Given the description of an element on the screen output the (x, y) to click on. 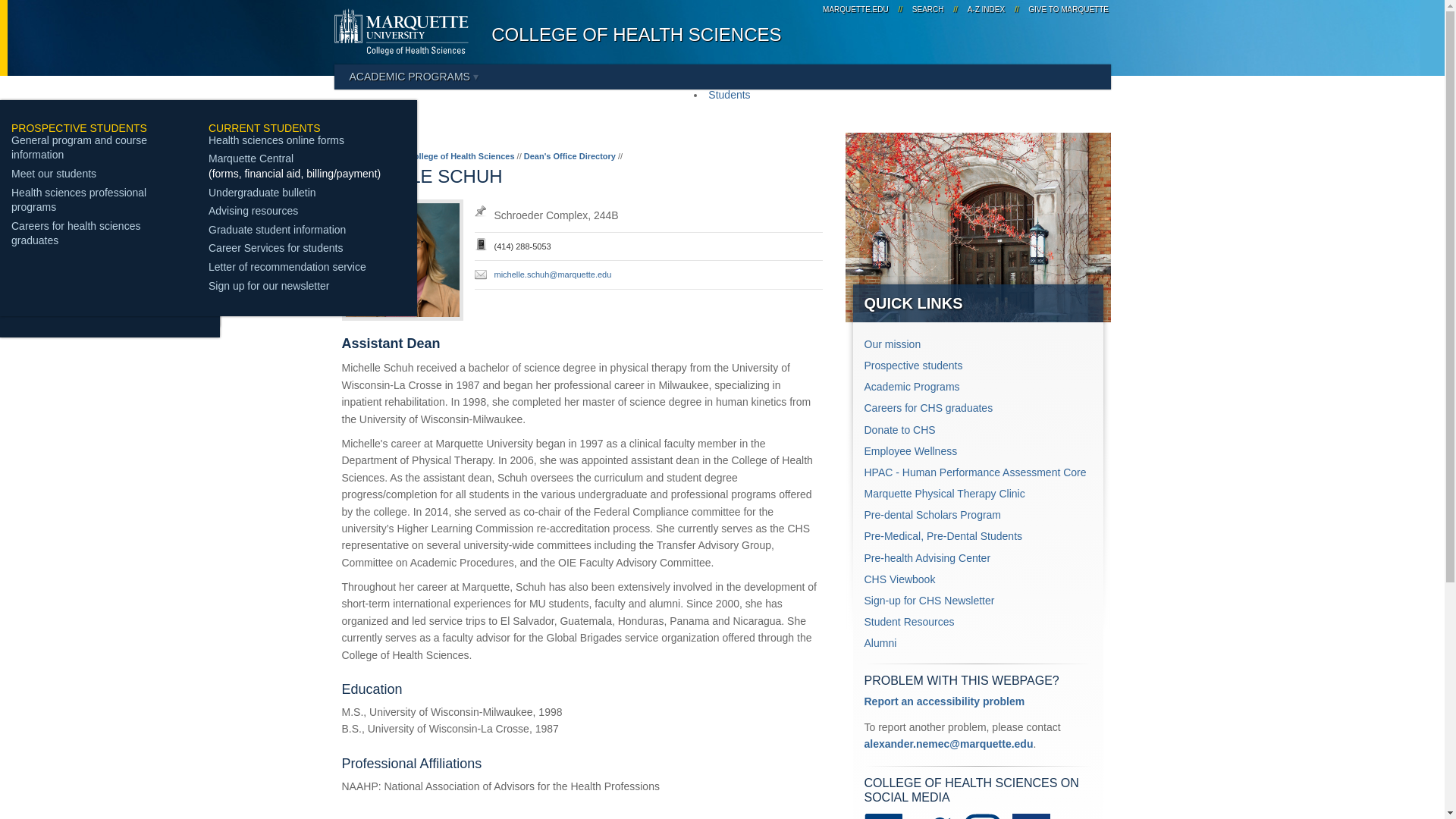
COLLEGE OF HEALTH SCIENCES (636, 34)
Students (728, 94)
Letter of recommendation service (287, 266)
GIVE TO MARQUETTE (1066, 8)
Graduate student information (277, 229)
Health sciences professional programs (79, 199)
ACADEMIC PROGRAMS (413, 76)
General program and course information (79, 147)
Advising resources (253, 210)
Marquette Central (251, 158)
Undergraduate bulletin (261, 192)
Career Services for students (275, 247)
Meet our students (53, 173)
Careers for health sciences graduates (75, 233)
A-Z INDEX (986, 8)
